Given the description of an element on the screen output the (x, y) to click on. 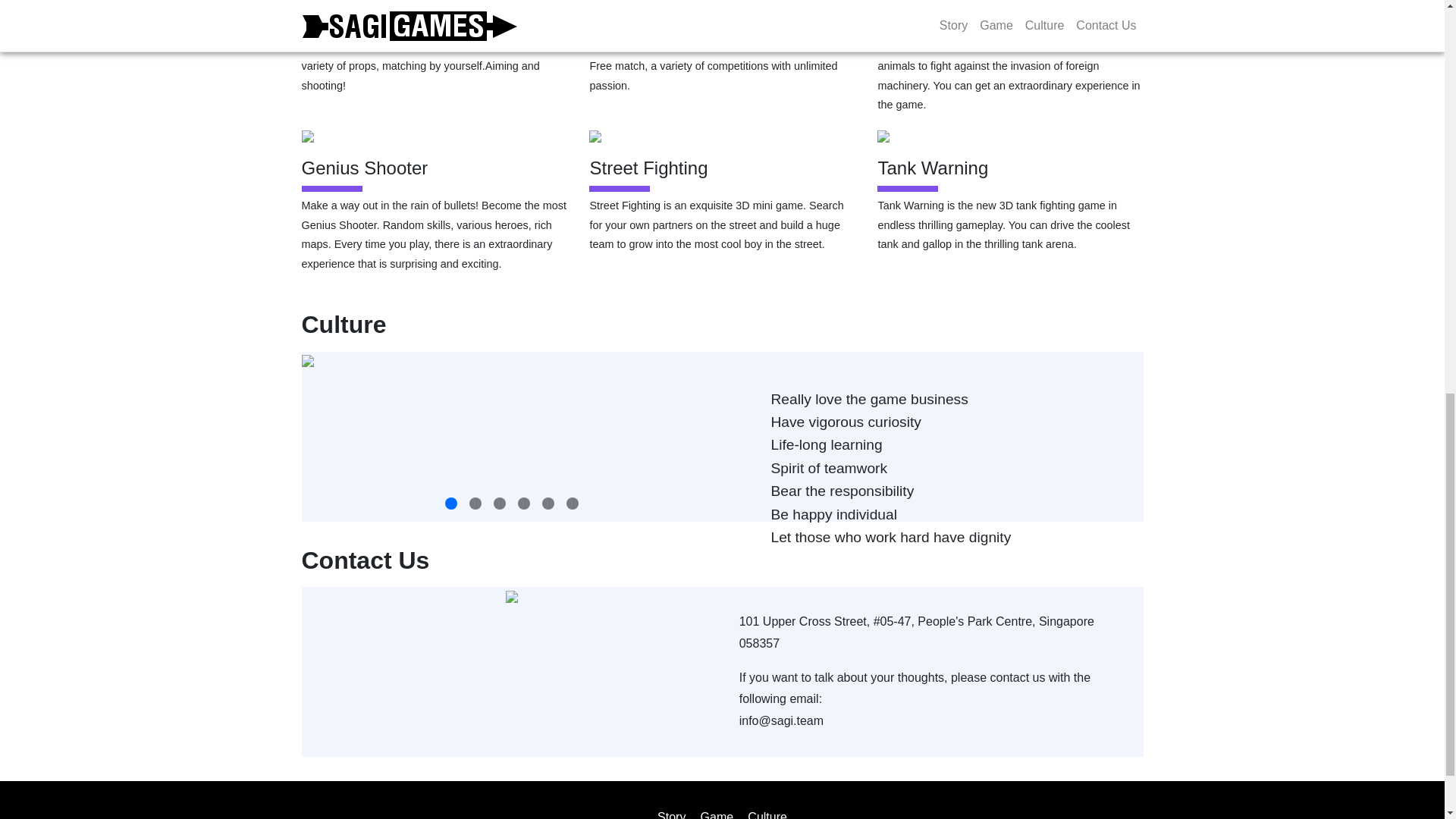
Culture (767, 814)
Game (716, 814)
Story (671, 814)
